Given the description of an element on the screen output the (x, y) to click on. 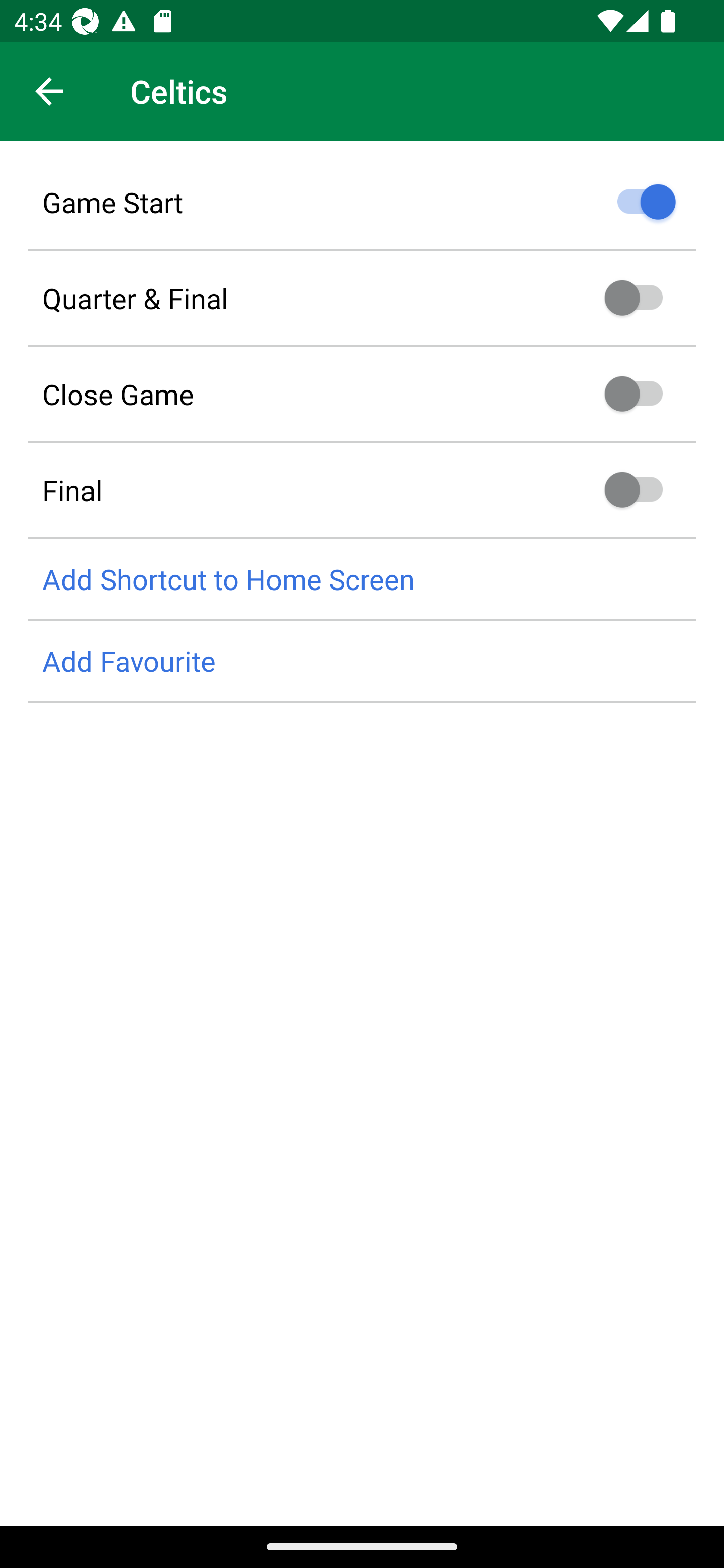
Navigate up (49, 91)
Add Shortcut to Home Screen (362, 579)
Add Favourite (362, 661)
